Given the description of an element on the screen output the (x, y) to click on. 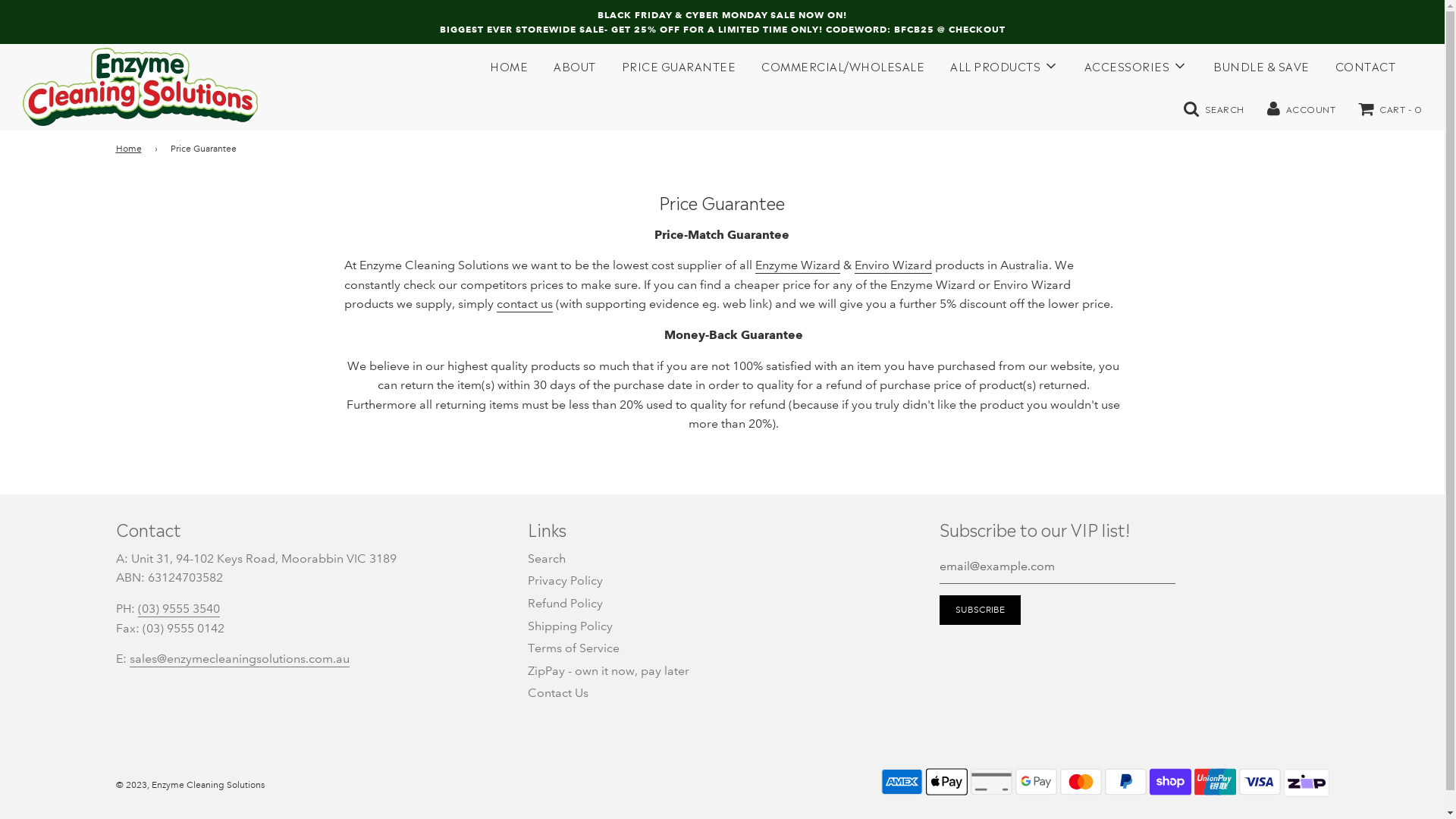
ACCOUNT Element type: text (1300, 106)
CONTACT Element type: text (1365, 65)
(03) 9555 3540 Element type: text (178, 609)
ALL PRODUCTS Element type: text (1004, 65)
Subscribe Element type: text (979, 609)
Refund Policy Element type: text (564, 603)
ACCESSORIES Element type: text (1135, 65)
ZipPay - own it now, pay later Element type: text (608, 670)
SEARCH Element type: text (1213, 106)
contact us Element type: text (524, 304)
sales@enzymecleaningsolutions.com.au Element type: text (238, 659)
Enviro Wizard Element type: text (892, 265)
Search Element type: text (546, 558)
PRICE GUARANTEE Element type: text (677, 65)
ABOUT Element type: text (574, 65)
Privacy Policy Element type: text (564, 580)
BUNDLE & SAVE Element type: text (1261, 65)
Enzyme Wizard Element type: text (797, 265)
Contact Us Element type: text (557, 692)
CART - 0 Element type: text (1389, 107)
Shipping Policy Element type: text (569, 625)
Terms of Service Element type: text (573, 647)
COMMERCIAL/WHOLESALE Element type: text (842, 65)
Home Element type: text (130, 148)
Buy Now Pay Later with ZipPay Element type: hover (1305, 794)
HOME Element type: text (508, 65)
